Given the description of an element on the screen output the (x, y) to click on. 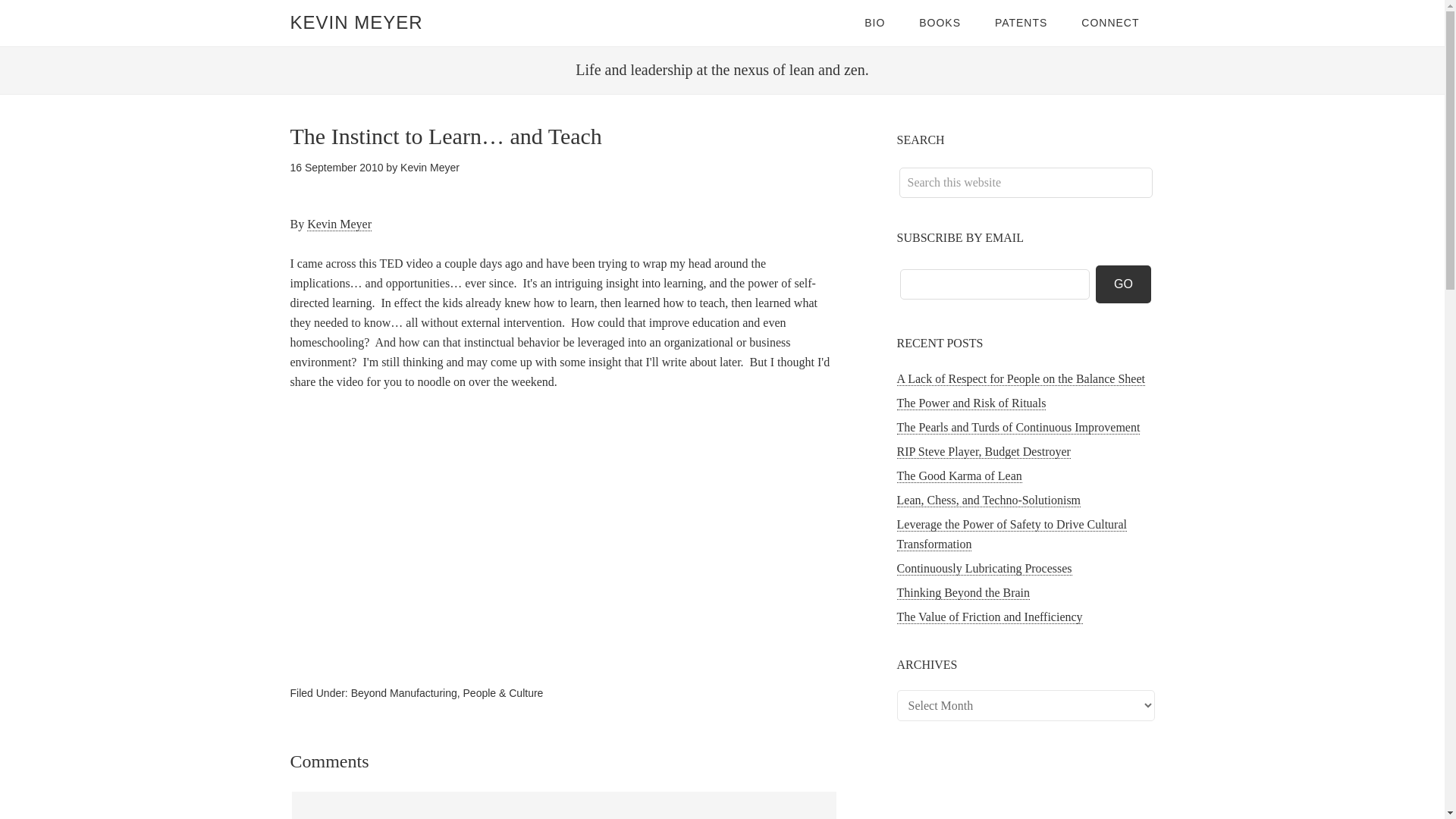
BOOKS (939, 22)
Kevin Meyer (430, 167)
Go (1123, 284)
Continuously Lubricating Processes (983, 568)
The Value of Friction and Inefficiency (988, 617)
CONNECT (1109, 22)
The Power and Risk of Rituals (970, 403)
Thinking Beyond the Brain (962, 592)
PATENTS (1020, 22)
BIO (873, 22)
The Pearls and Turds of Continuous Improvement (1018, 427)
RIP Steve Player, Budget Destroyer (983, 451)
